Given the description of an element on the screen output the (x, y) to click on. 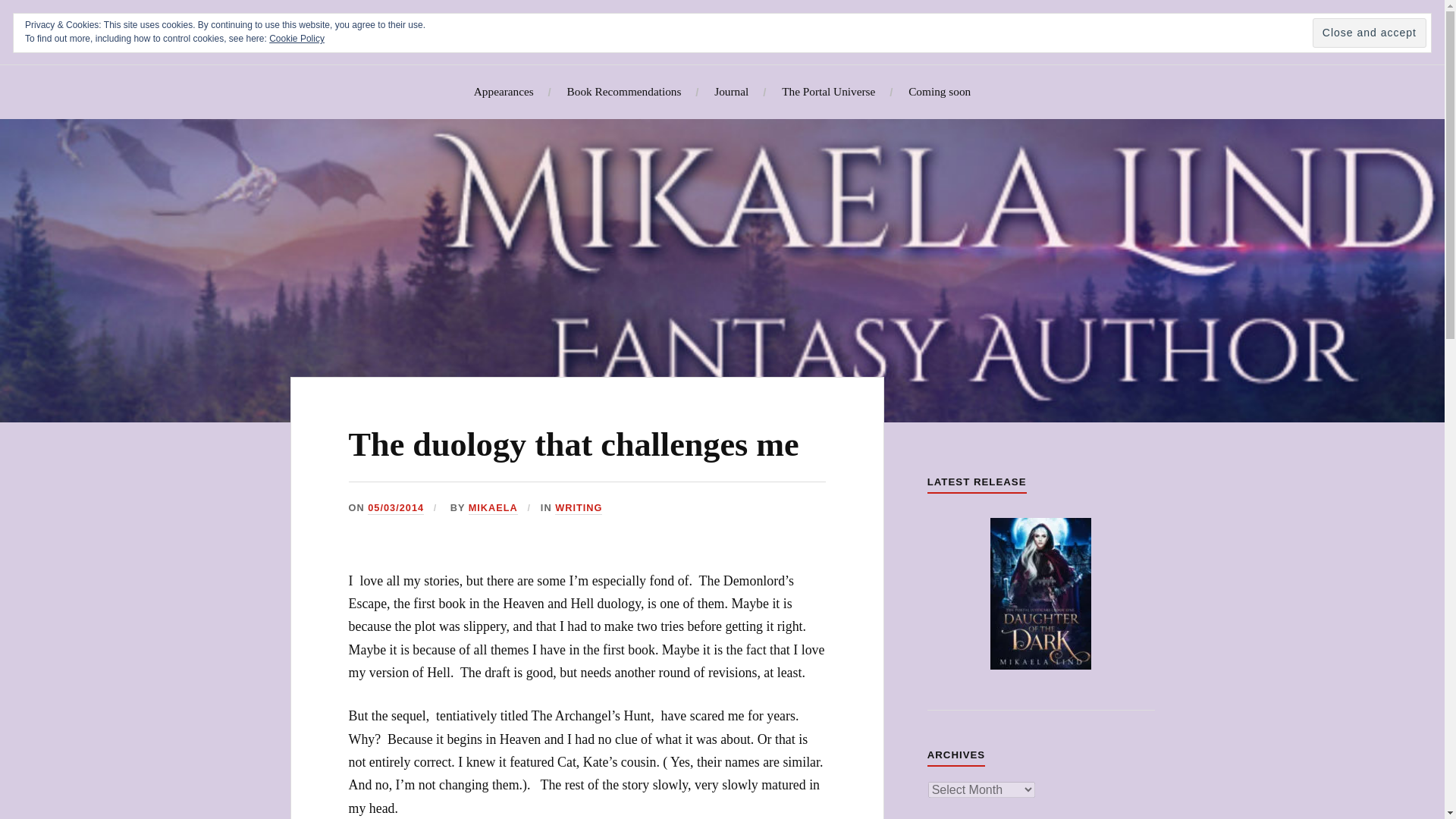
The Portal Universe (828, 91)
Close and accept (1369, 32)
Book Recommendations (624, 91)
Cookie Policy (296, 38)
Appearances (504, 91)
Coming soon (939, 91)
Journal (731, 91)
Close and accept (1369, 32)
MIKAELA (493, 508)
WRITING (578, 508)
